Given the description of an element on the screen output the (x, y) to click on. 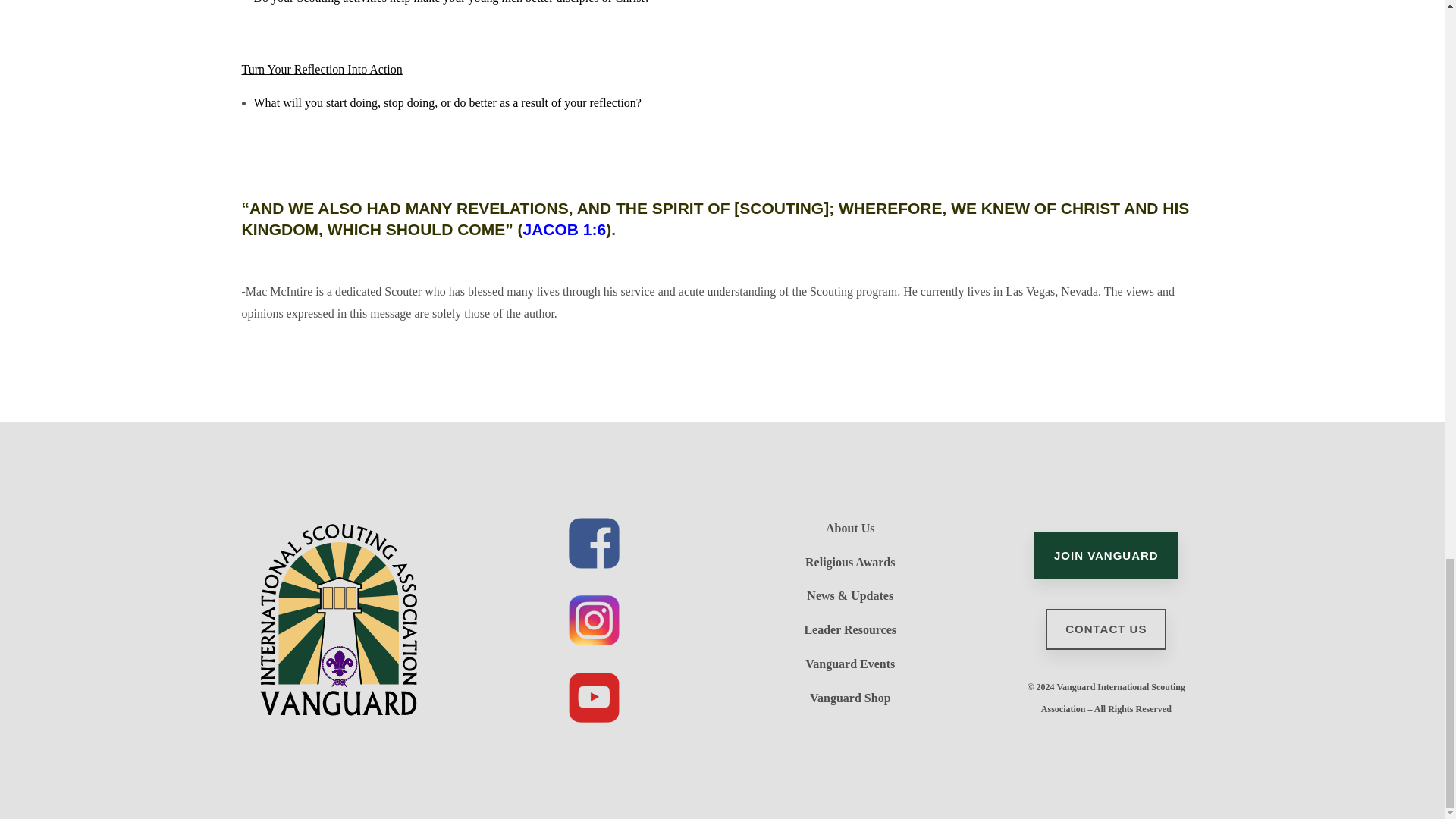
CONTACT US (1105, 629)
Instagram Icon (594, 620)
JACOB 1:6 (563, 229)
JOIN VANGUARD (1105, 555)
Religious Awards (850, 562)
YouTube Icon (594, 697)
Vanguard Shop (850, 697)
Vanguard Logo-Color (337, 618)
Facebook Icon (594, 542)
About Us (850, 527)
Leader Resources (849, 629)
Vanguard Events (850, 663)
